Given the description of an element on the screen output the (x, y) to click on. 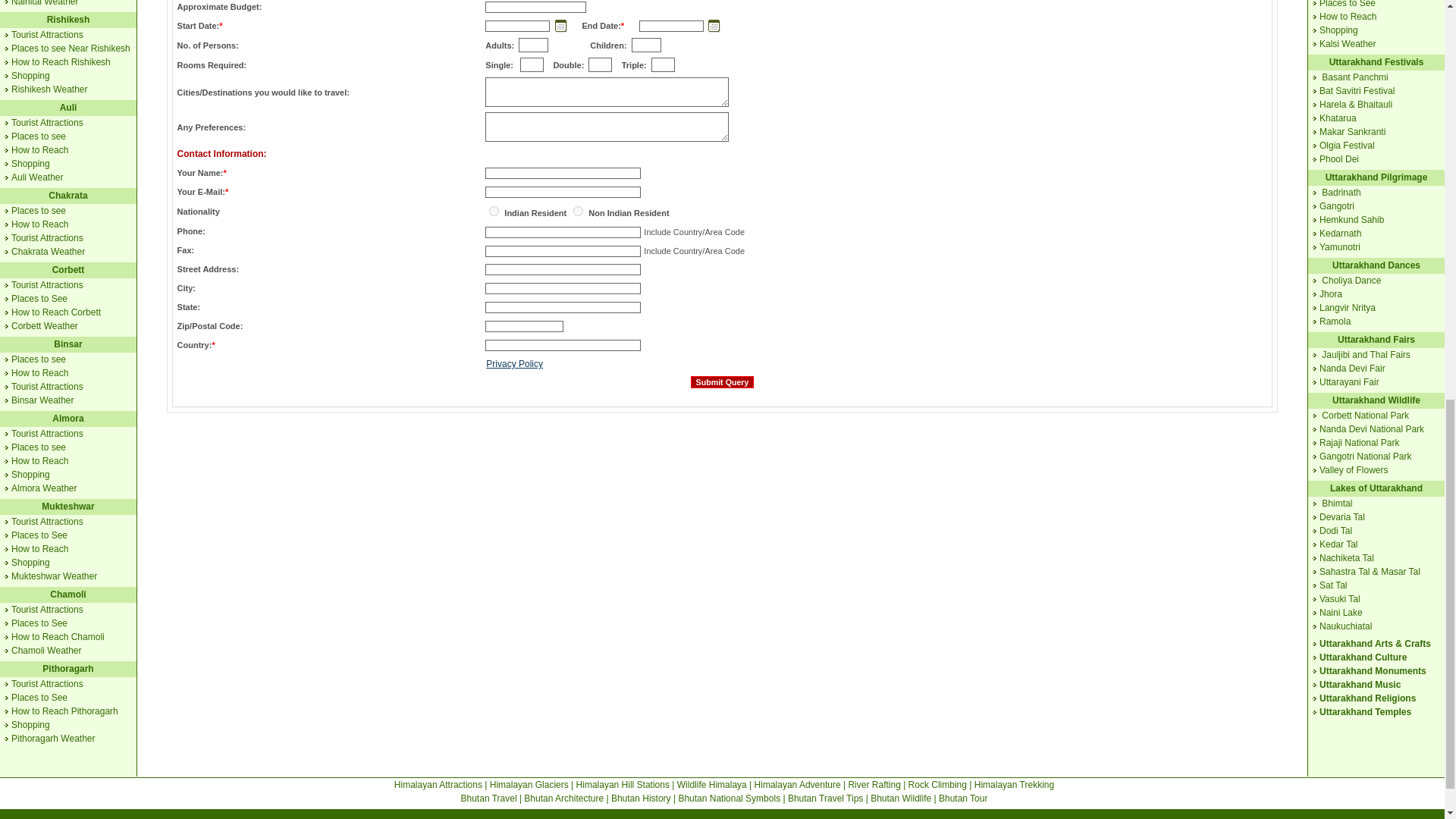
Indian Resident (494, 211)
Non Indian Resident (578, 211)
Submit Query (722, 381)
Nainital Weather (44, 3)
